Given the description of an element on the screen output the (x, y) to click on. 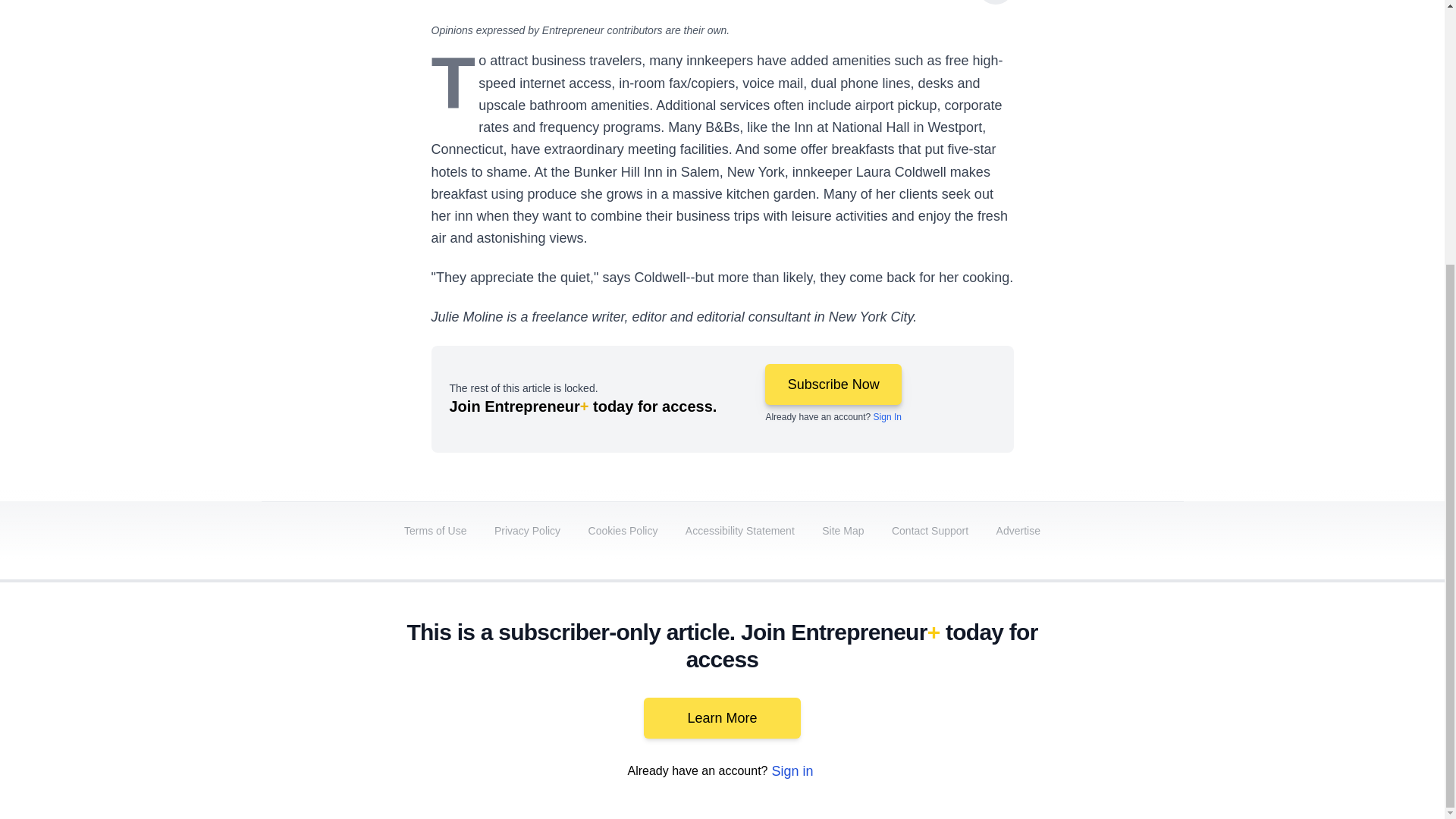
facebook (866, 691)
instagram (1037, 691)
rss (1164, 691)
youtube (994, 691)
twitter (909, 691)
copy (994, 2)
linkedin (952, 691)
tiktok (1079, 691)
snapchat (1121, 691)
